Given the description of an element on the screen output the (x, y) to click on. 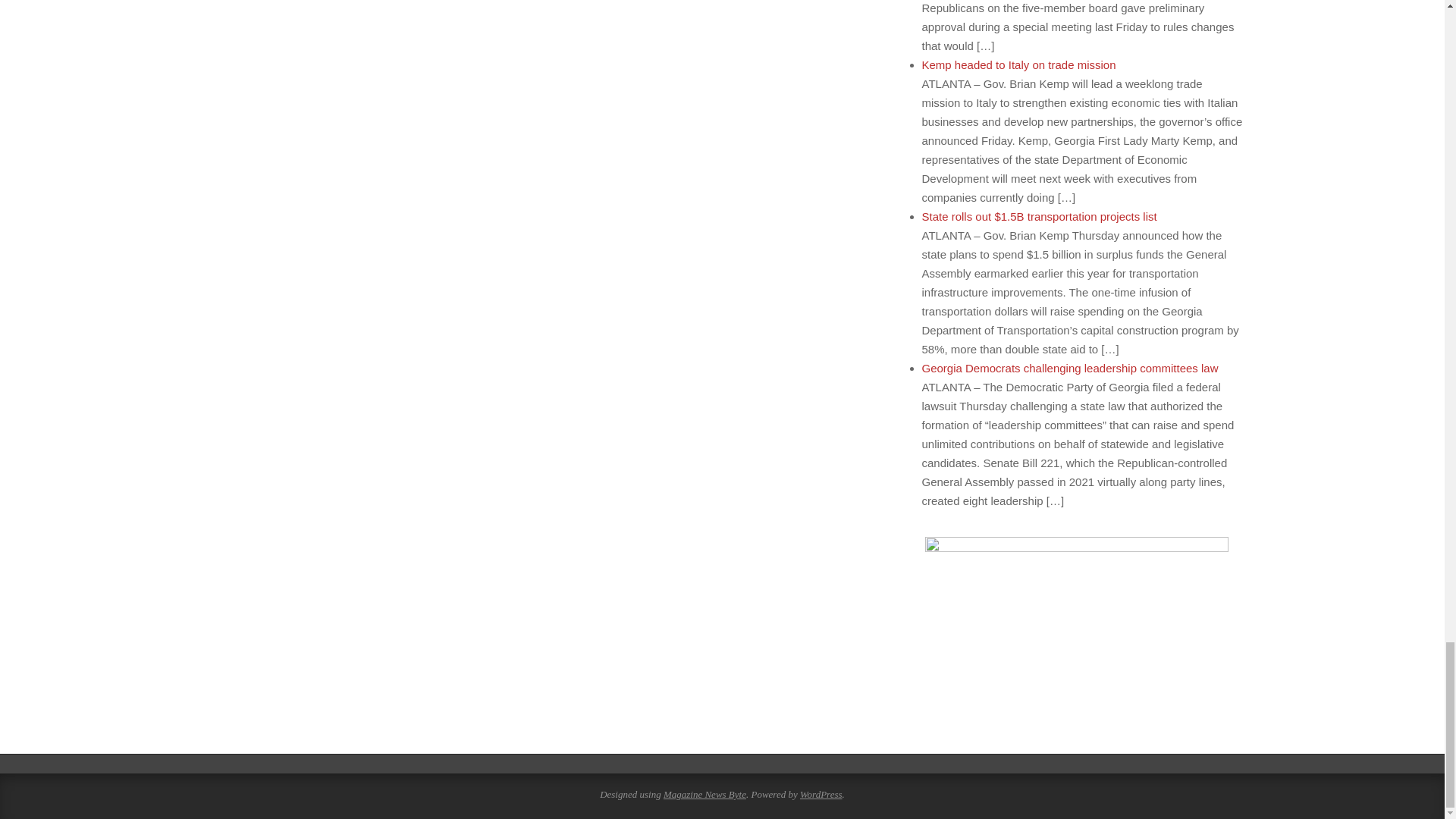
Magazine News Byte WordPress Theme (704, 794)
